Given the description of an element on the screen output the (x, y) to click on. 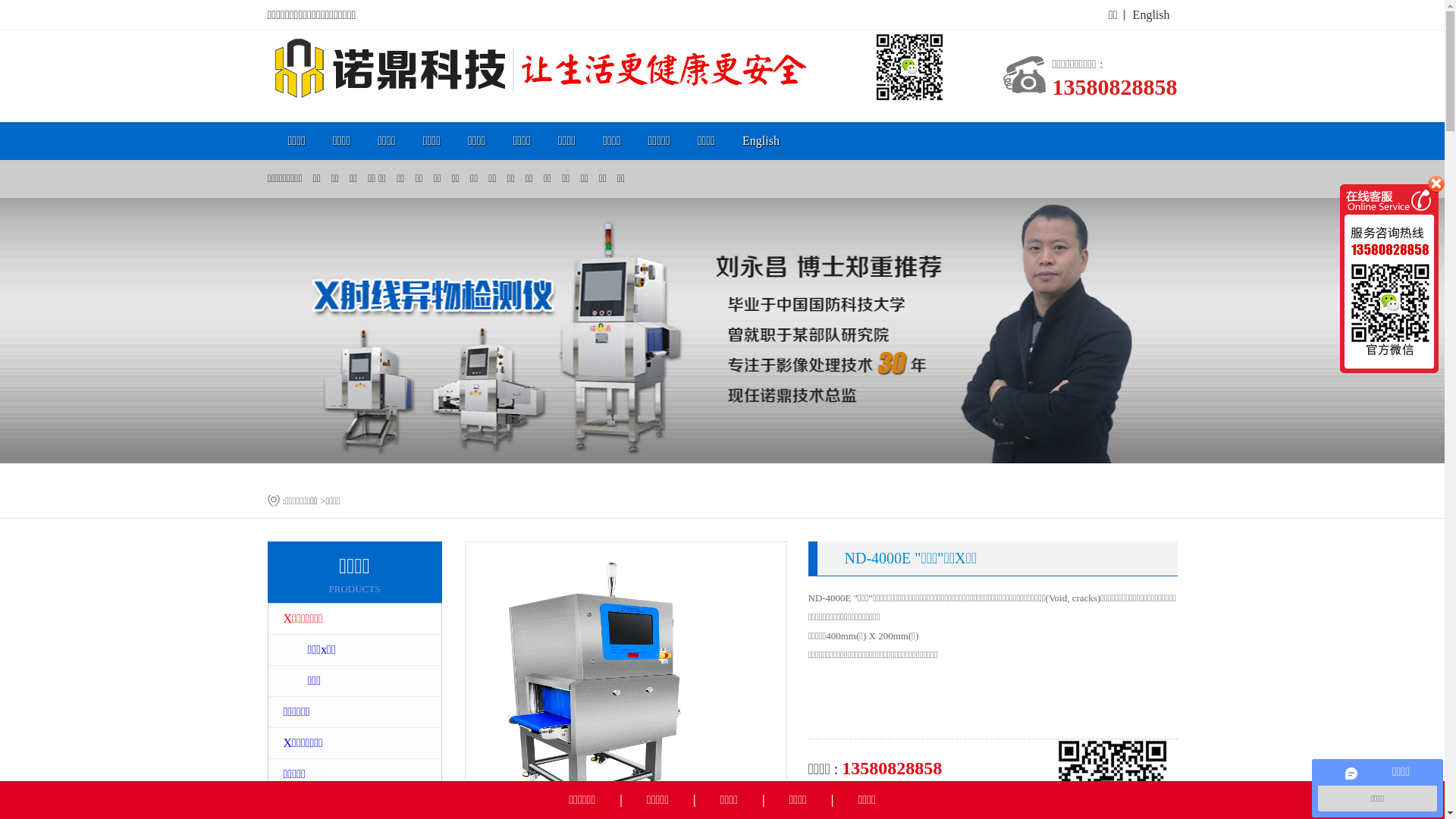
English Element type: text (1151, 15)
English Element type: text (760, 141)
logo Element type: hover (605, 66)
